Given the description of an element on the screen output the (x, y) to click on. 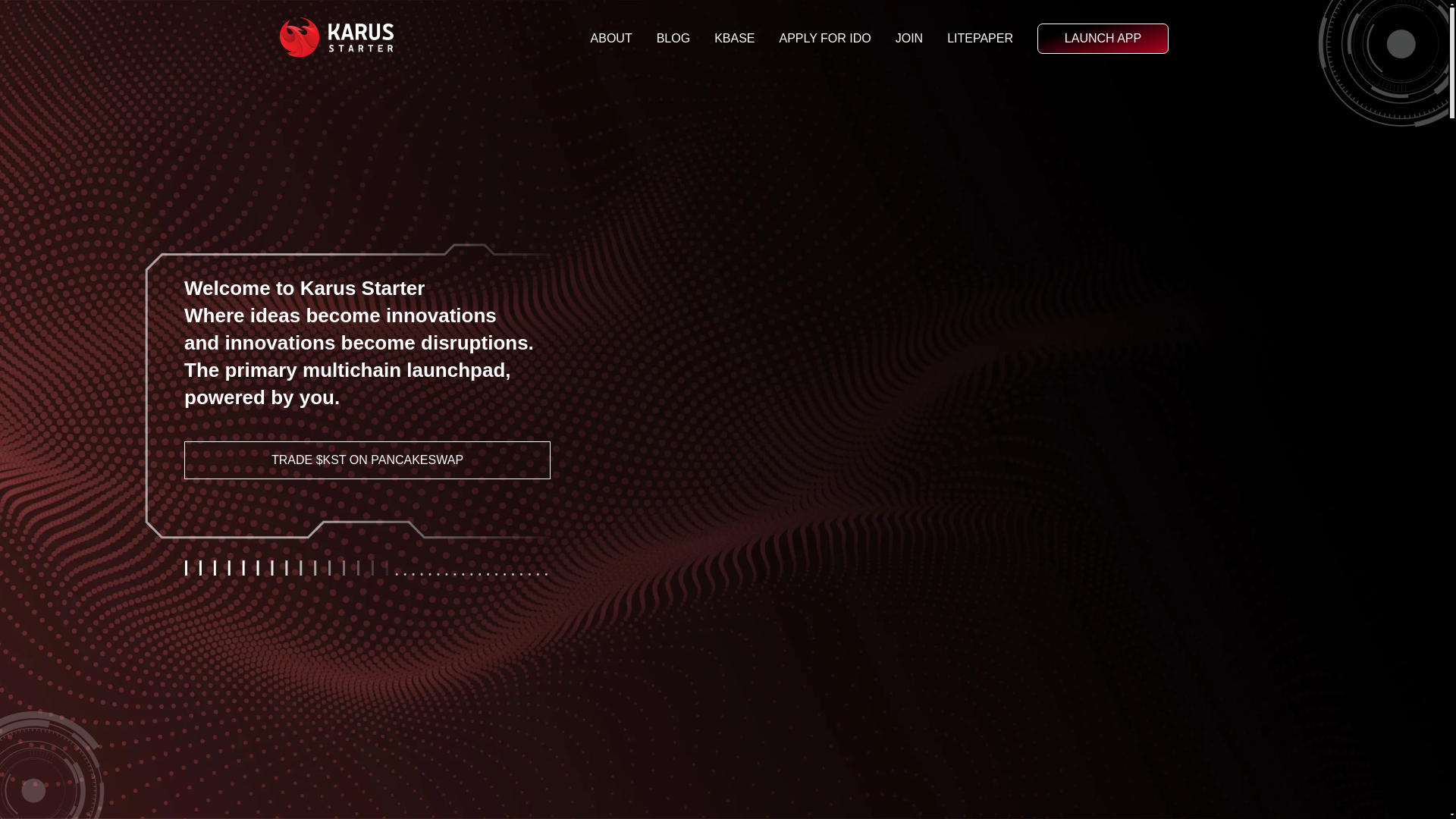
KBASE (734, 38)
APPLY FOR IDO (824, 38)
LITEPAPER (980, 38)
ABOUT (611, 38)
LAUNCH APP (1102, 38)
BLOG (673, 38)
JOIN (909, 38)
